Given the description of an element on the screen output the (x, y) to click on. 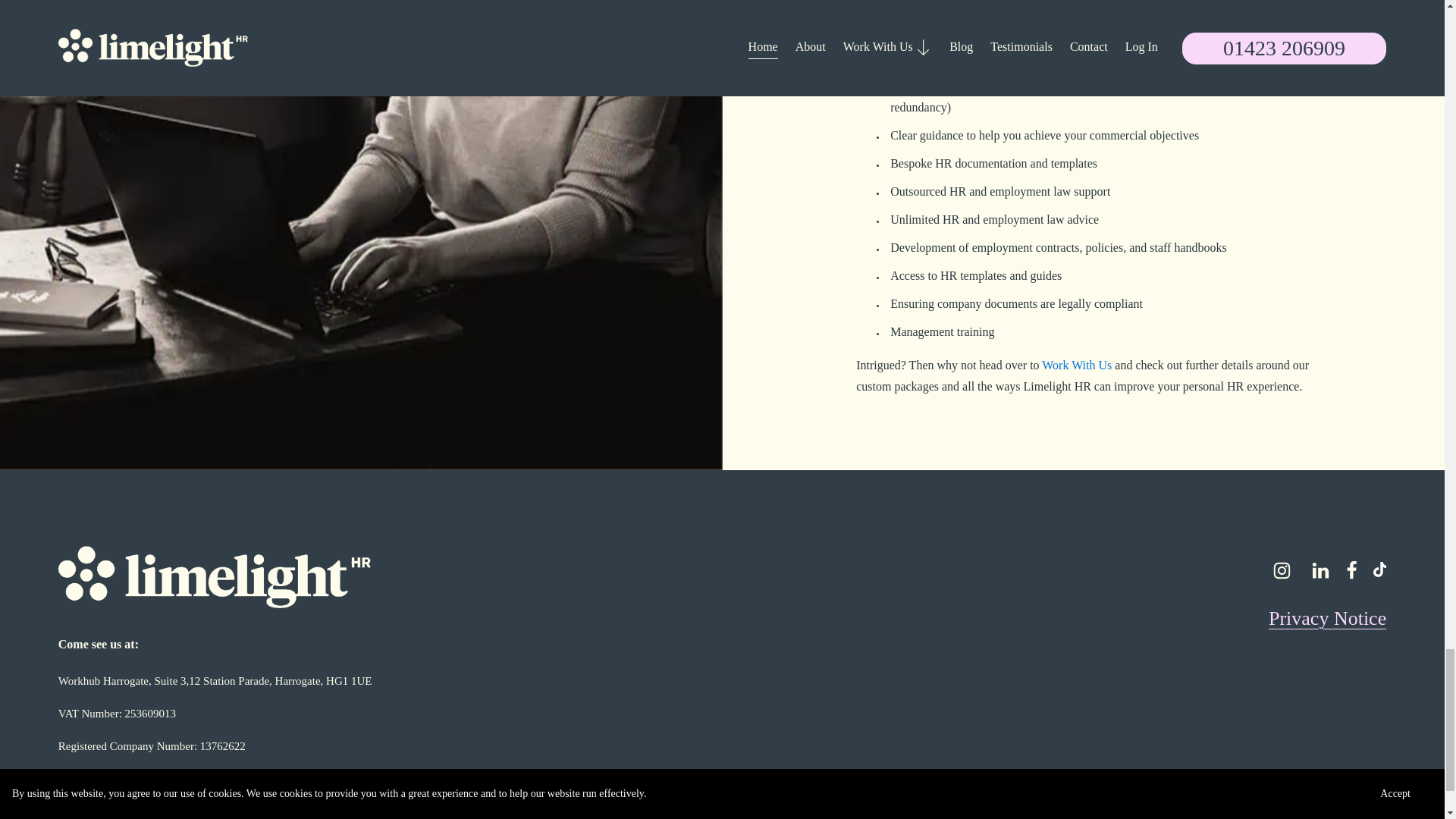
Work With Us (1077, 364)
